Given the description of an element on the screen output the (x, y) to click on. 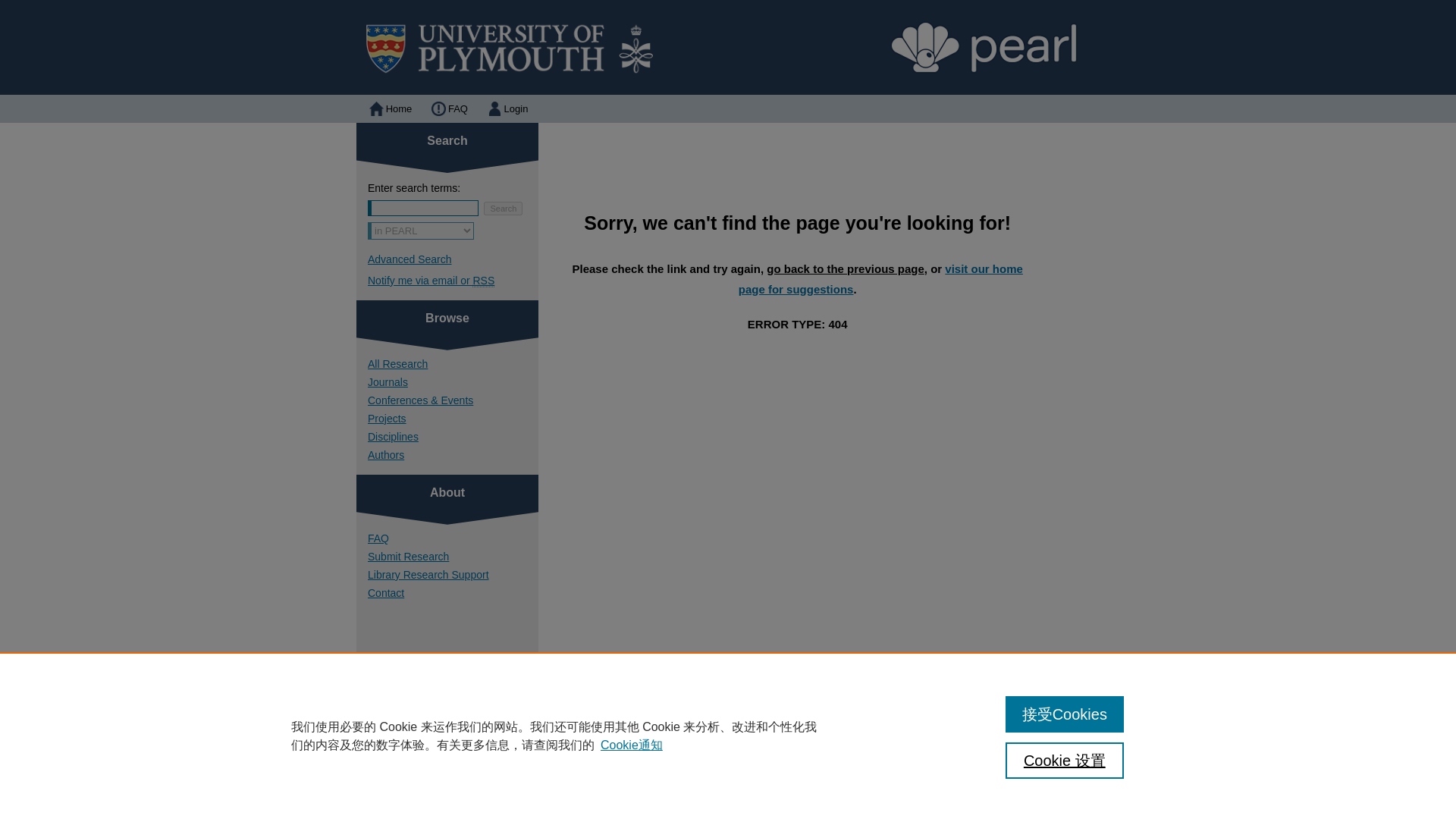
visit our home page for suggestions (880, 278)
Email or RSS Notifications (453, 280)
FAQ (453, 538)
Login (507, 108)
Copyright (622, 799)
Submit Research (453, 556)
Browse Journals (453, 381)
Search (502, 208)
Contact (453, 592)
All Research (453, 363)
FAQ (618, 779)
Disciplines (453, 436)
Notify me via email or RSS (453, 280)
Browse by All Research (453, 363)
Home (389, 108)
